Given the description of an element on the screen output the (x, y) to click on. 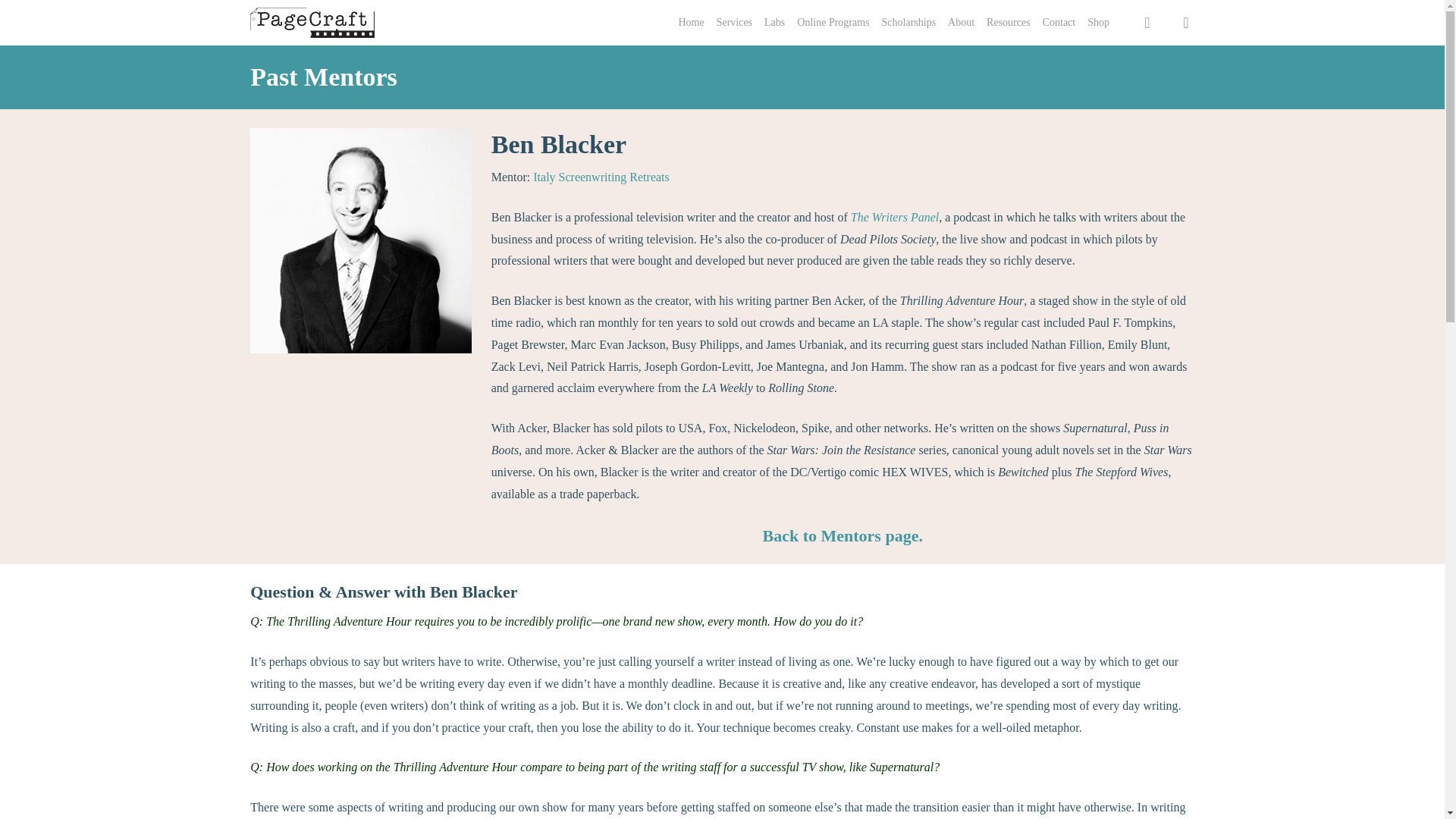
Instructors (842, 535)
About (960, 22)
Labs (774, 22)
Home (690, 22)
Online Programs (832, 22)
Scholarships (909, 22)
Services (734, 22)
